Given the description of an element on the screen output the (x, y) to click on. 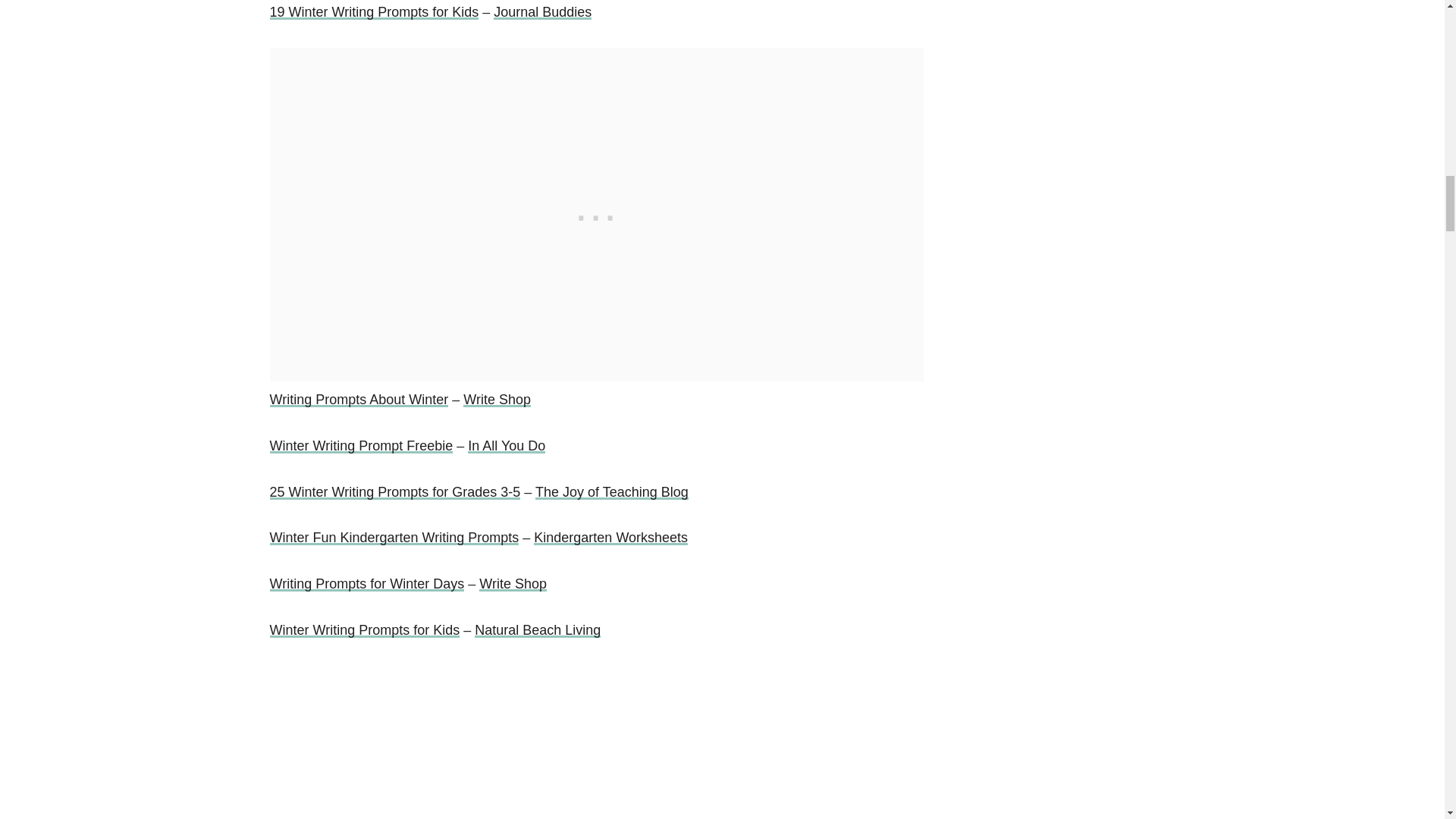
The Joy of Teaching Blog (611, 491)
In All You Do (505, 445)
Write Shop (497, 399)
19 Winter Writing Prompts for Kids (374, 11)
Writing Prompts About Winter (358, 399)
25 Winter Writing Prompts for Grades 3-5 (395, 491)
Winter Writing Prompt Freebie (360, 445)
Journal Buddies (542, 11)
